Given the description of an element on the screen output the (x, y) to click on. 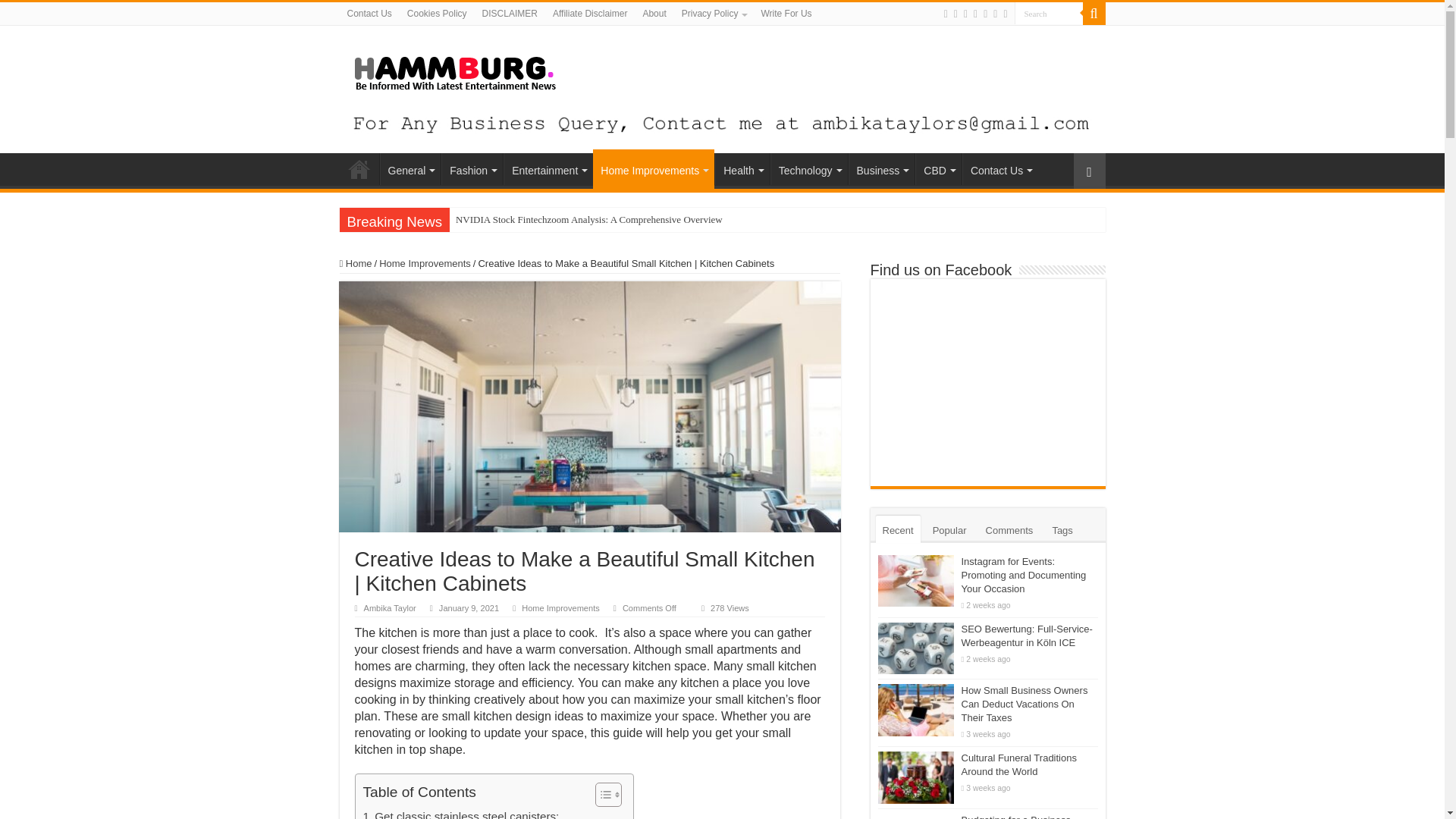
Search (1048, 13)
Search (1048, 13)
Search (1048, 13)
